Given the description of an element on the screen output the (x, y) to click on. 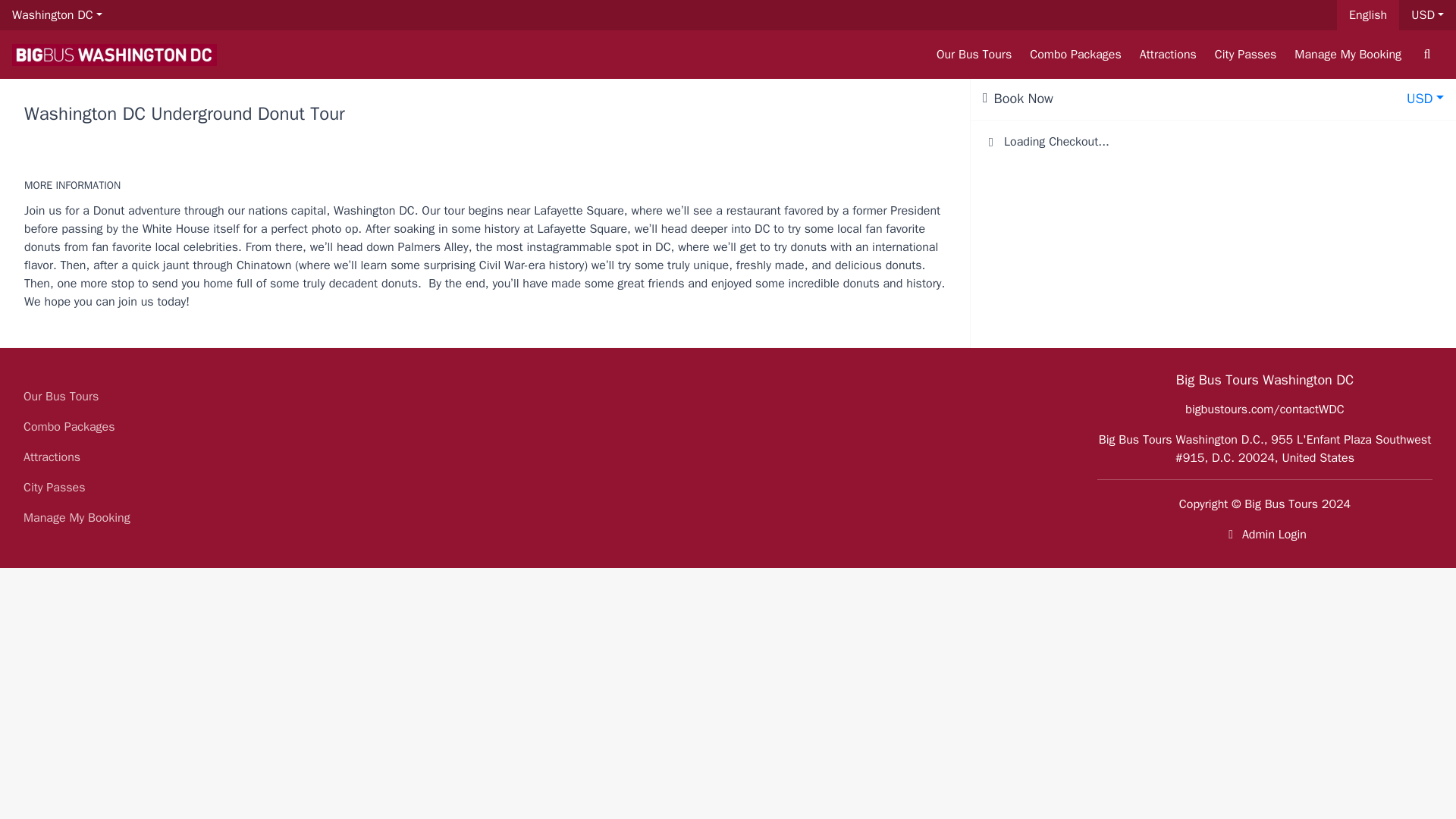
Washington DC (57, 15)
